Given the description of an element on the screen output the (x, y) to click on. 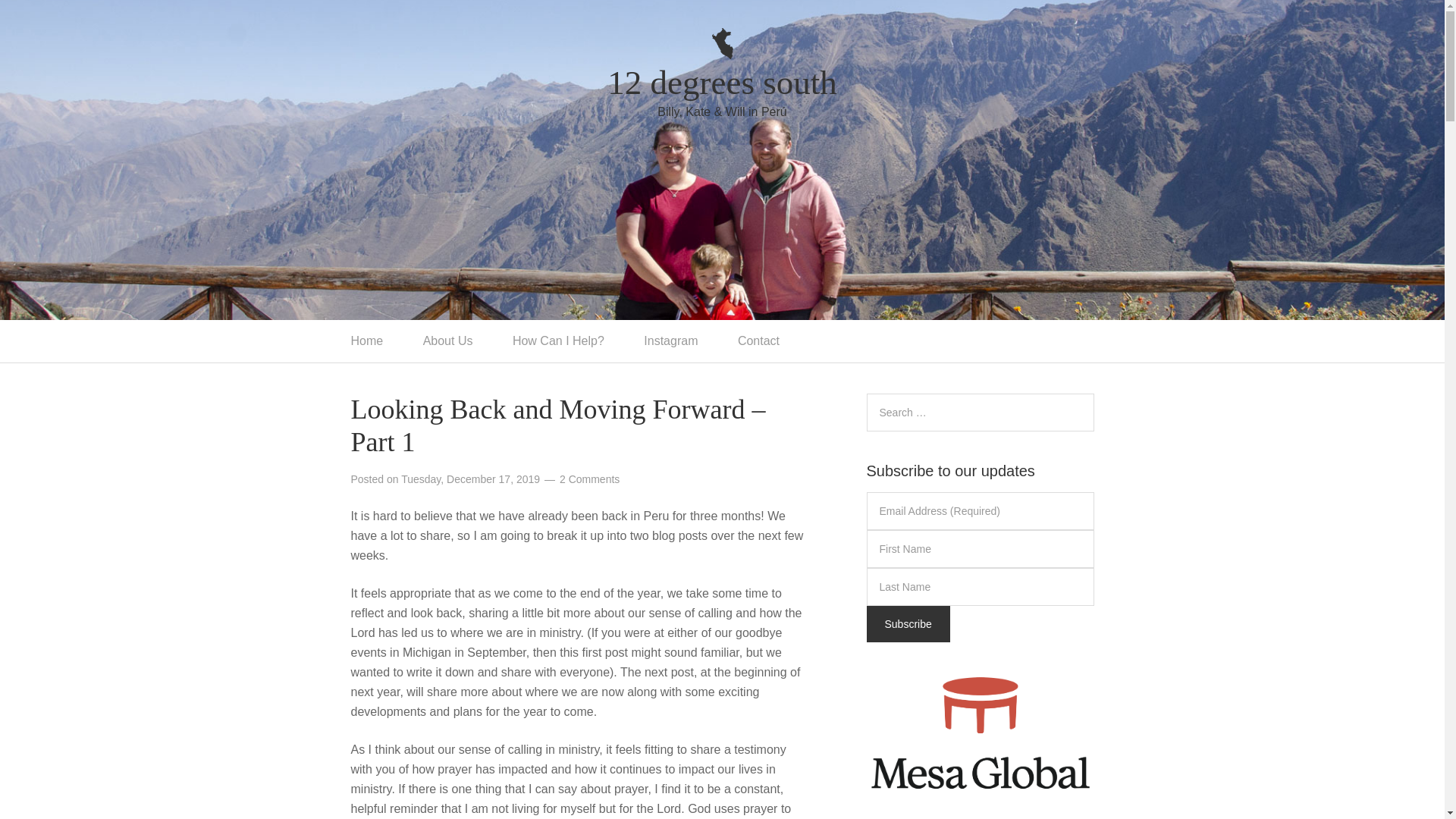
Tuesday, December 17, 2019, 5:42 pm (470, 479)
Instagram (671, 341)
How Can I Help? (559, 341)
Home (366, 341)
Subscribe (907, 624)
Search for: (979, 412)
About Us (448, 341)
2 Comments (589, 479)
Subscribe (907, 624)
12 degrees south (721, 65)
12 Degrees South (721, 65)
Contact (758, 341)
